Given the description of an element on the screen output the (x, y) to click on. 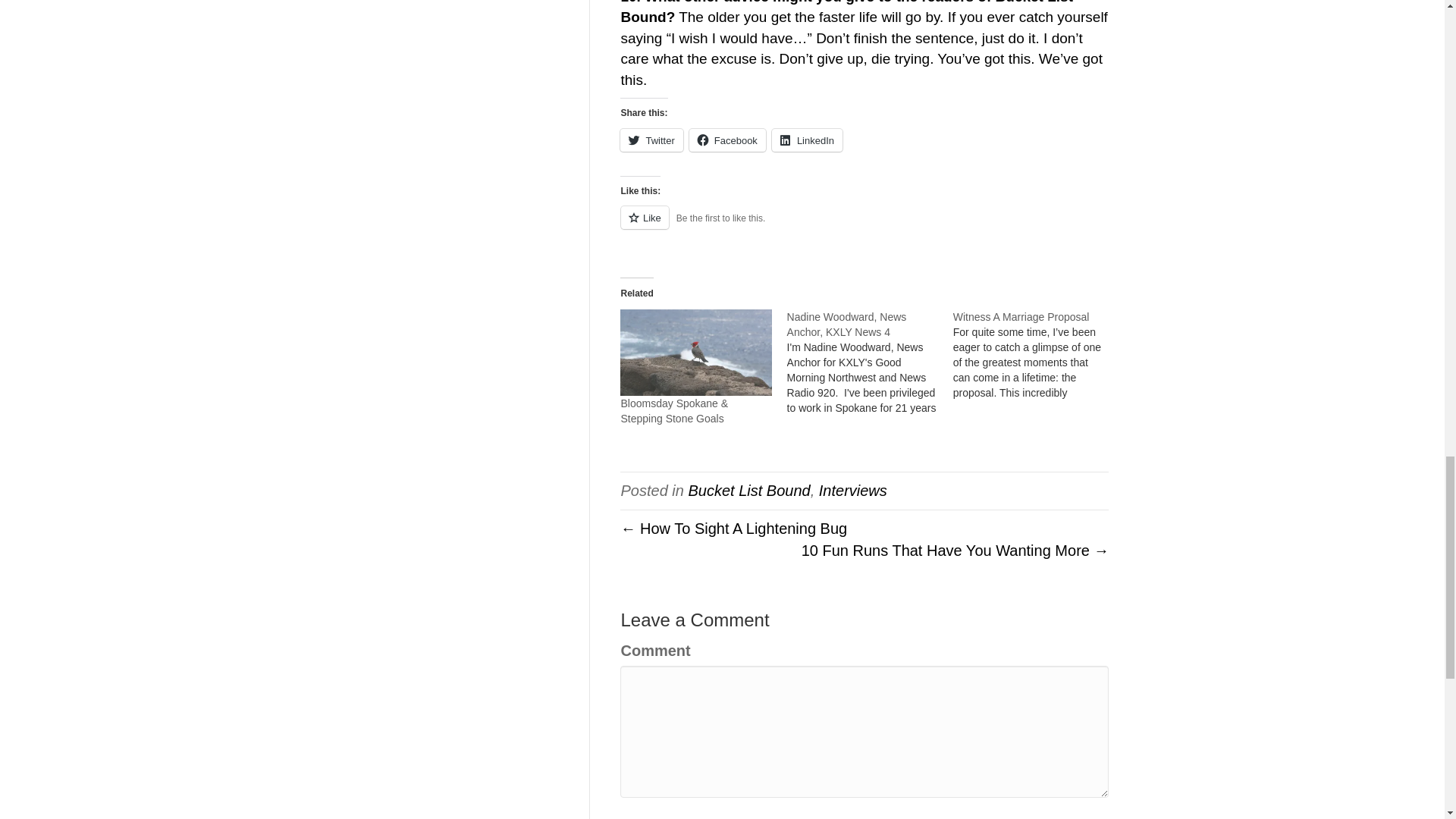
Witness A Marriage Proposal (1021, 316)
Nadine Woodward, News Anchor, KXLY News 4 (847, 324)
Click to share on Facebook (726, 139)
Nadine Woodward, News Anchor, KXLY News 4 (847, 324)
Like or Reblog (864, 226)
Witness A Marriage Proposal (1021, 316)
Interviews (852, 490)
Nadine Woodward, News Anchor, KXLY News 4 (870, 362)
Click to share on Twitter (651, 139)
Bucket List Bound (748, 490)
Click to share on LinkedIn (807, 139)
Witness A Marriage Proposal (1036, 354)
Twitter (651, 139)
LinkedIn (807, 139)
Facebook (726, 139)
